Given the description of an element on the screen output the (x, y) to click on. 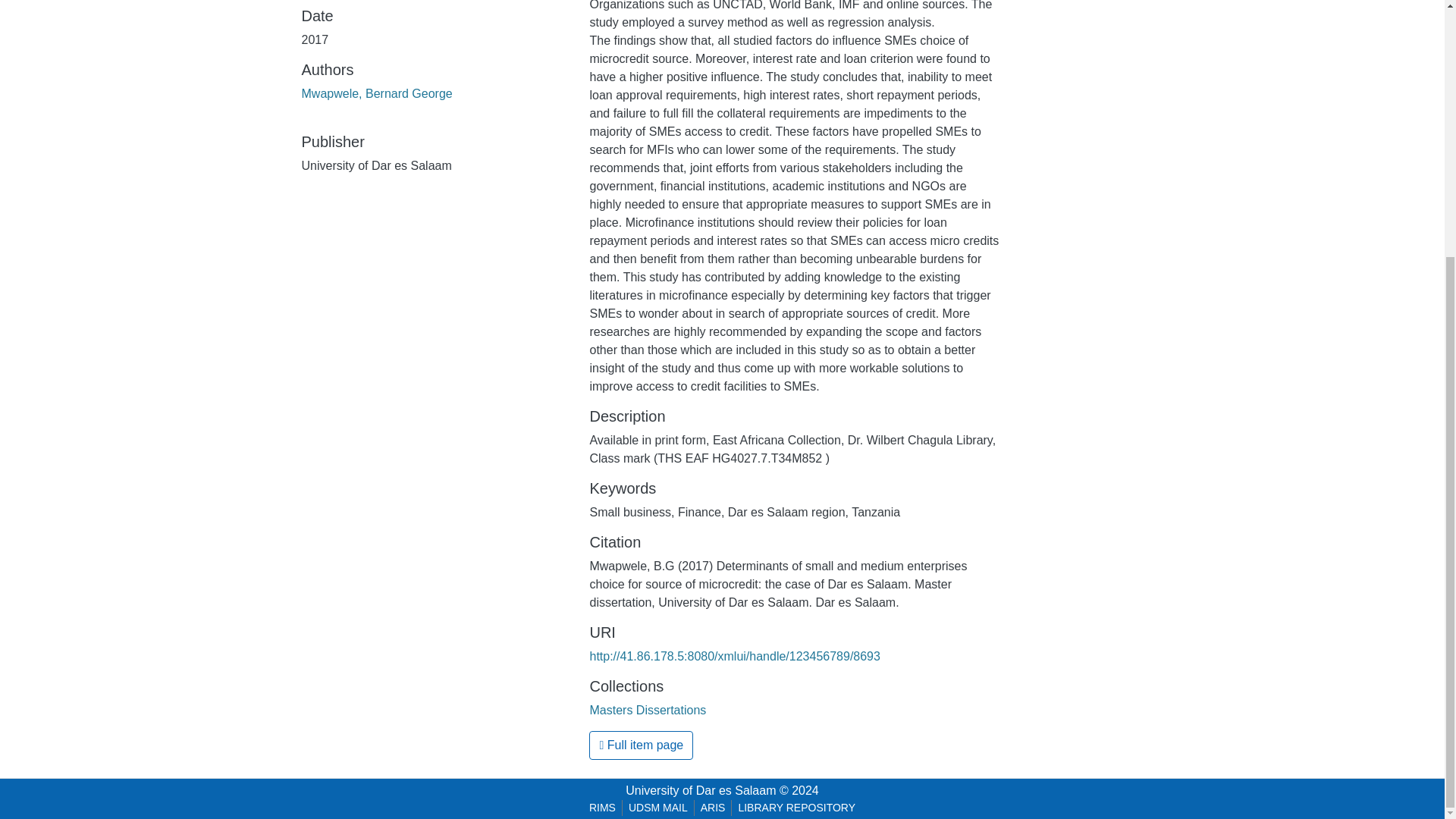
RIMS (602, 807)
Mwapwele, Bernard George (376, 92)
Masters Dissertations (647, 709)
ARIS (713, 807)
LIBRARY REPOSITORY (796, 807)
Full item page (641, 745)
UDSM MAIL (658, 807)
